Given the description of an element on the screen output the (x, y) to click on. 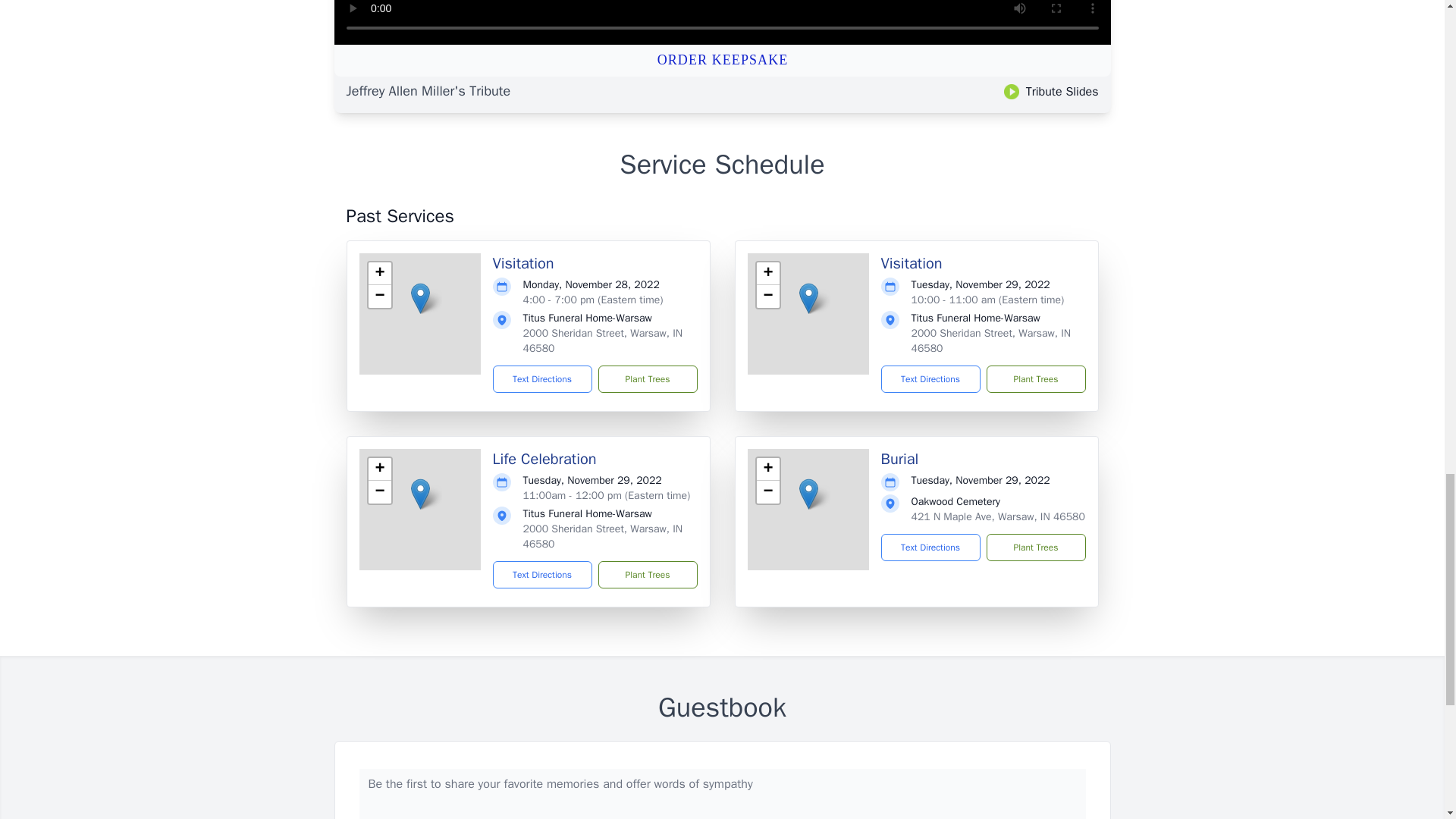
2000 Sheridan Street, Warsaw, IN 46580 (602, 340)
Zoom out (379, 296)
Zoom in (379, 468)
Text Directions (929, 379)
Zoom out (767, 296)
Plant Trees (646, 379)
Zoom out (379, 491)
Zoom in (767, 273)
Zoom out (767, 491)
Text Directions (542, 379)
Text Directions (542, 574)
2000 Sheridan Street, Warsaw, IN 46580 (602, 536)
2000 Sheridan Street, Warsaw, IN 46580 (991, 340)
Plant Trees (1034, 379)
Zoom in (379, 273)
